Given the description of an element on the screen output the (x, y) to click on. 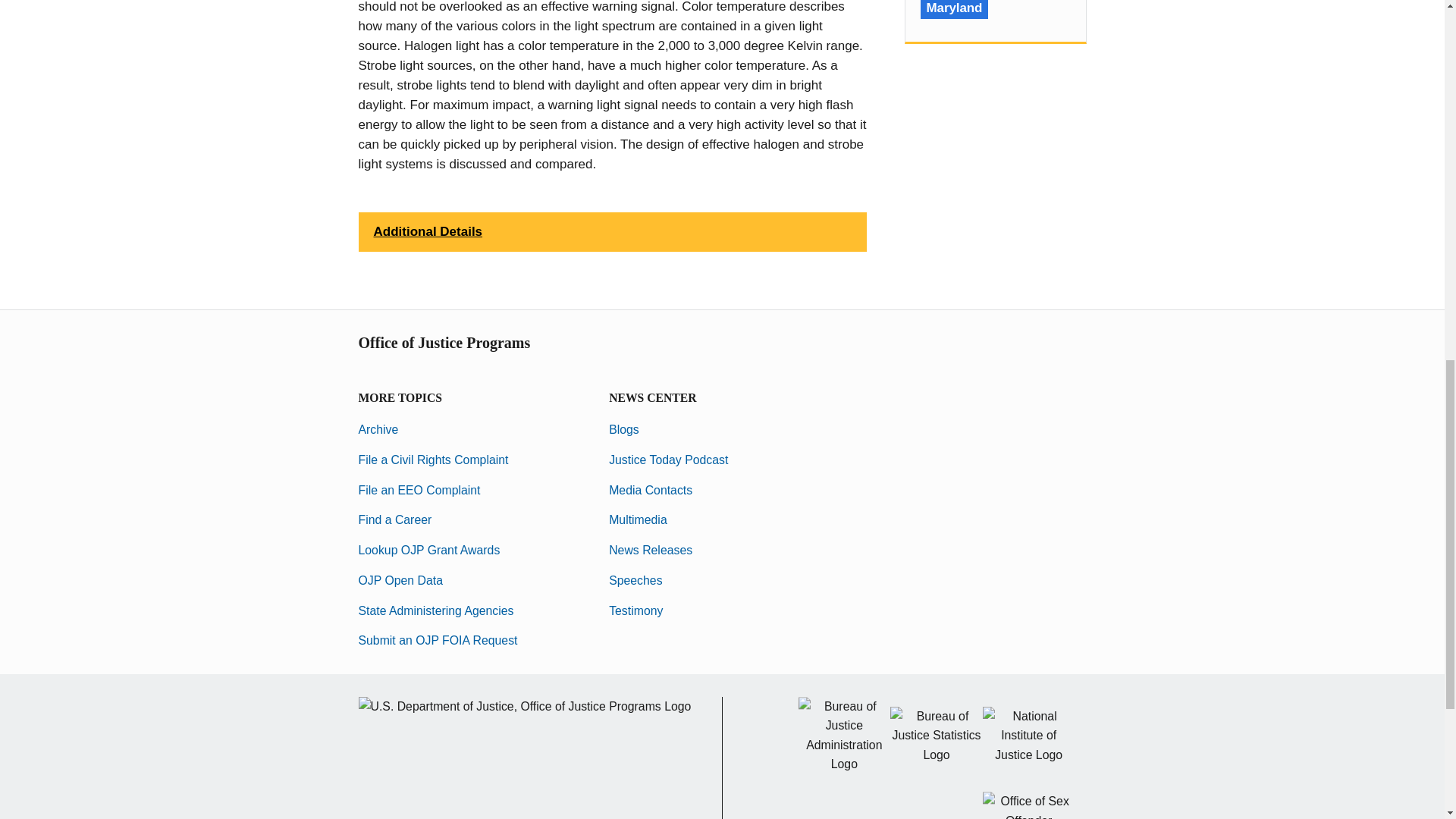
File a Civil Rights Complaint (433, 459)
Lookup OJP Grant Awards (428, 549)
OJP Open Data (400, 580)
Additional Details (612, 231)
File an EEO Complaint (419, 490)
Find a Career (394, 519)
Archive (377, 429)
Maryland (954, 9)
